Given the description of an element on the screen output the (x, y) to click on. 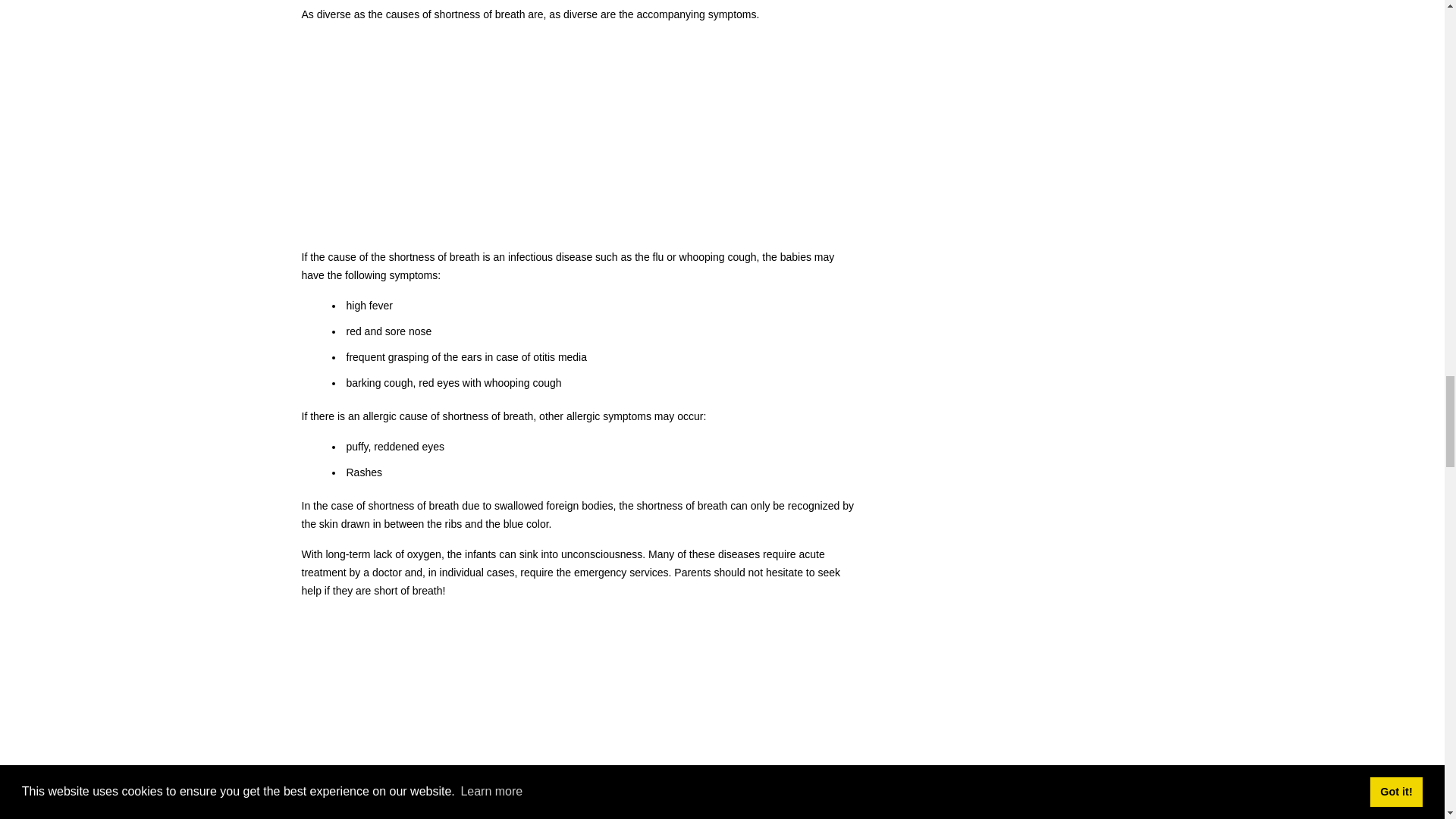
Advertisement (578, 142)
